Given the description of an element on the screen output the (x, y) to click on. 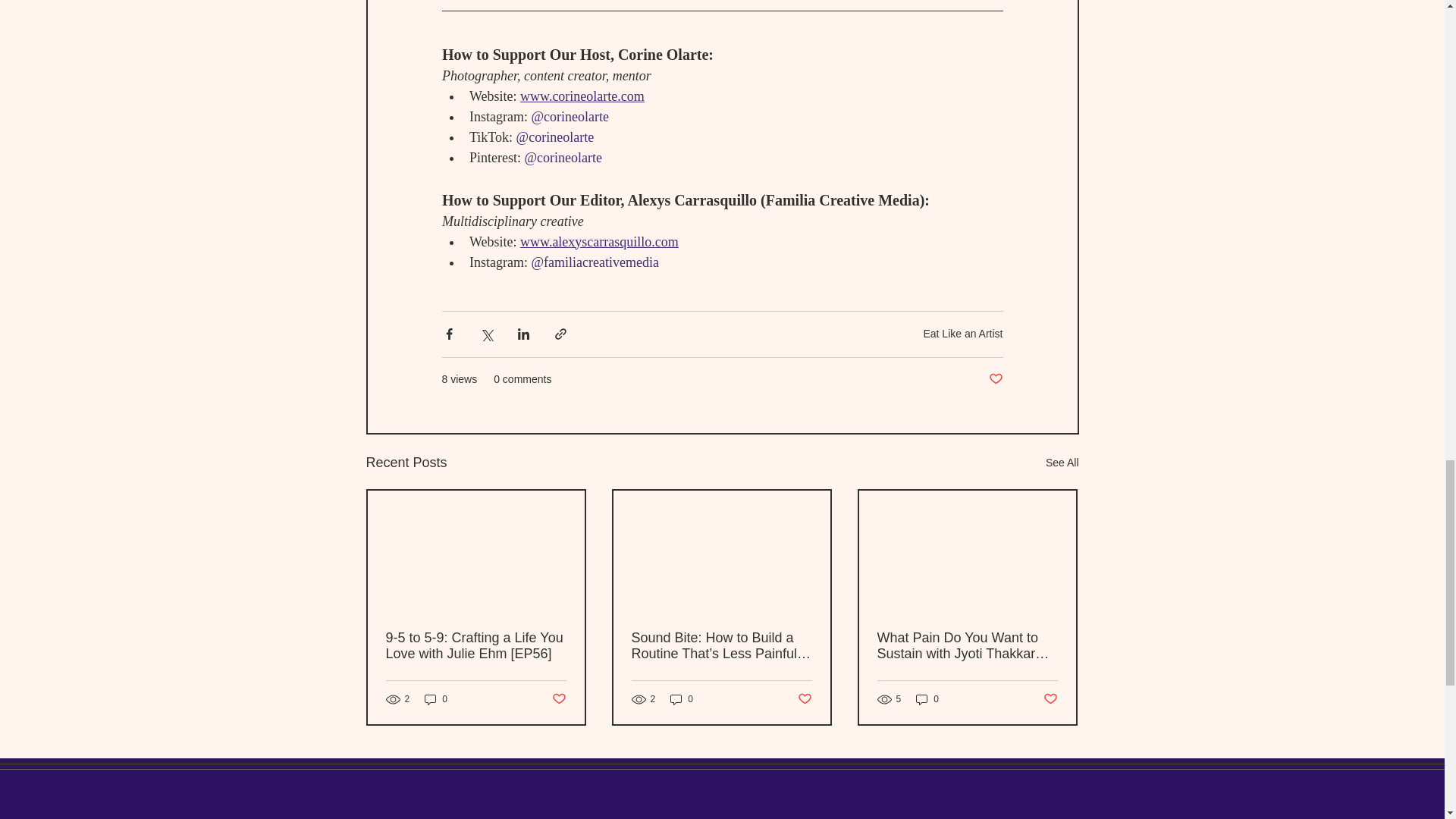
www.alexyscarrasquillo.com (598, 240)
Post not marked as liked (995, 379)
Post not marked as liked (558, 699)
0 (435, 699)
See All (1061, 463)
Eat Like an Artist (963, 333)
www.corineolarte.com (582, 95)
0 (681, 699)
